Given the description of an element on the screen output the (x, y) to click on. 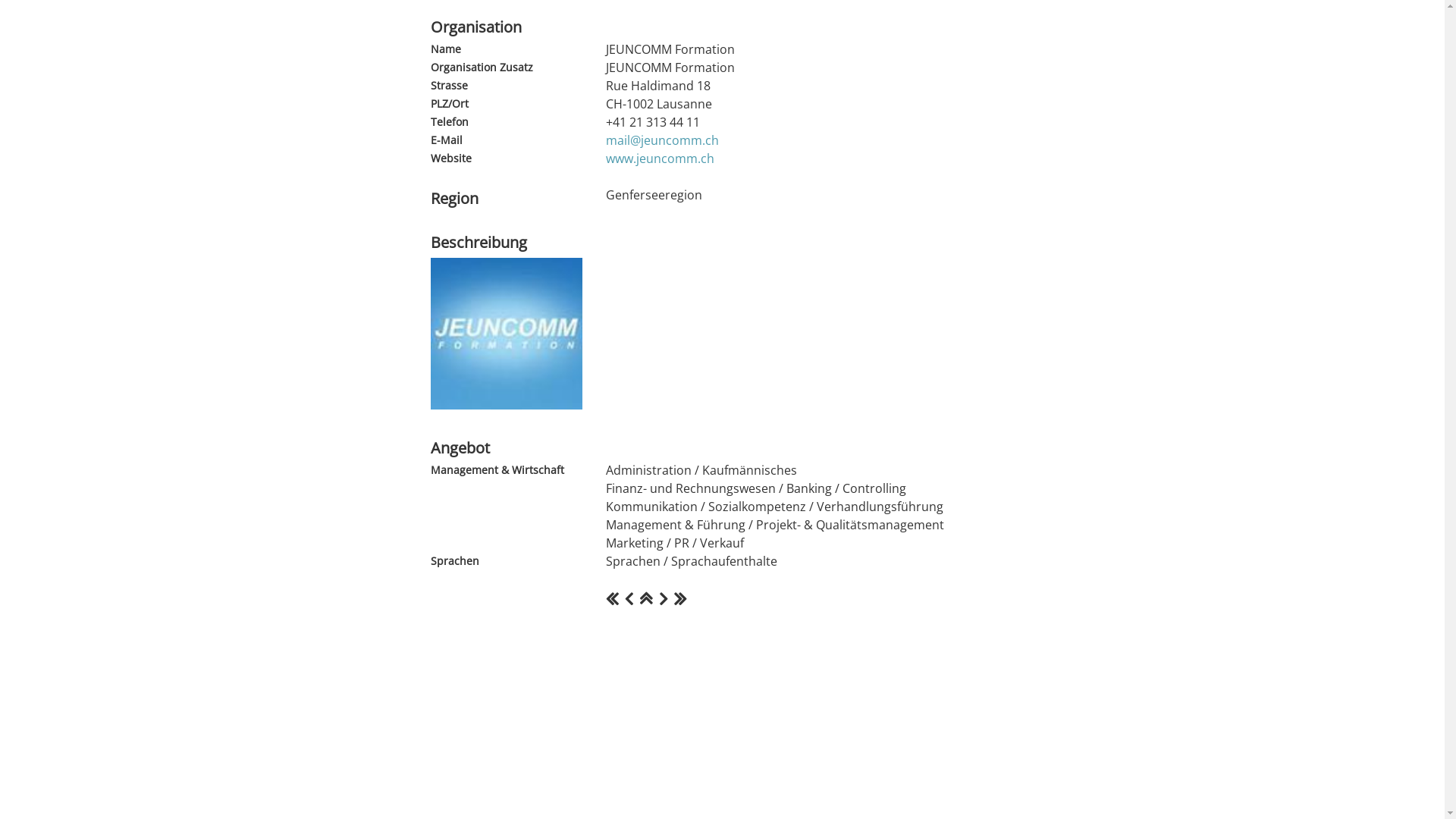
mail@jeuncomm.ch Element type: text (661, 139)
www.jeuncomm.ch Element type: text (659, 158)
